Given the description of an element on the screen output the (x, y) to click on. 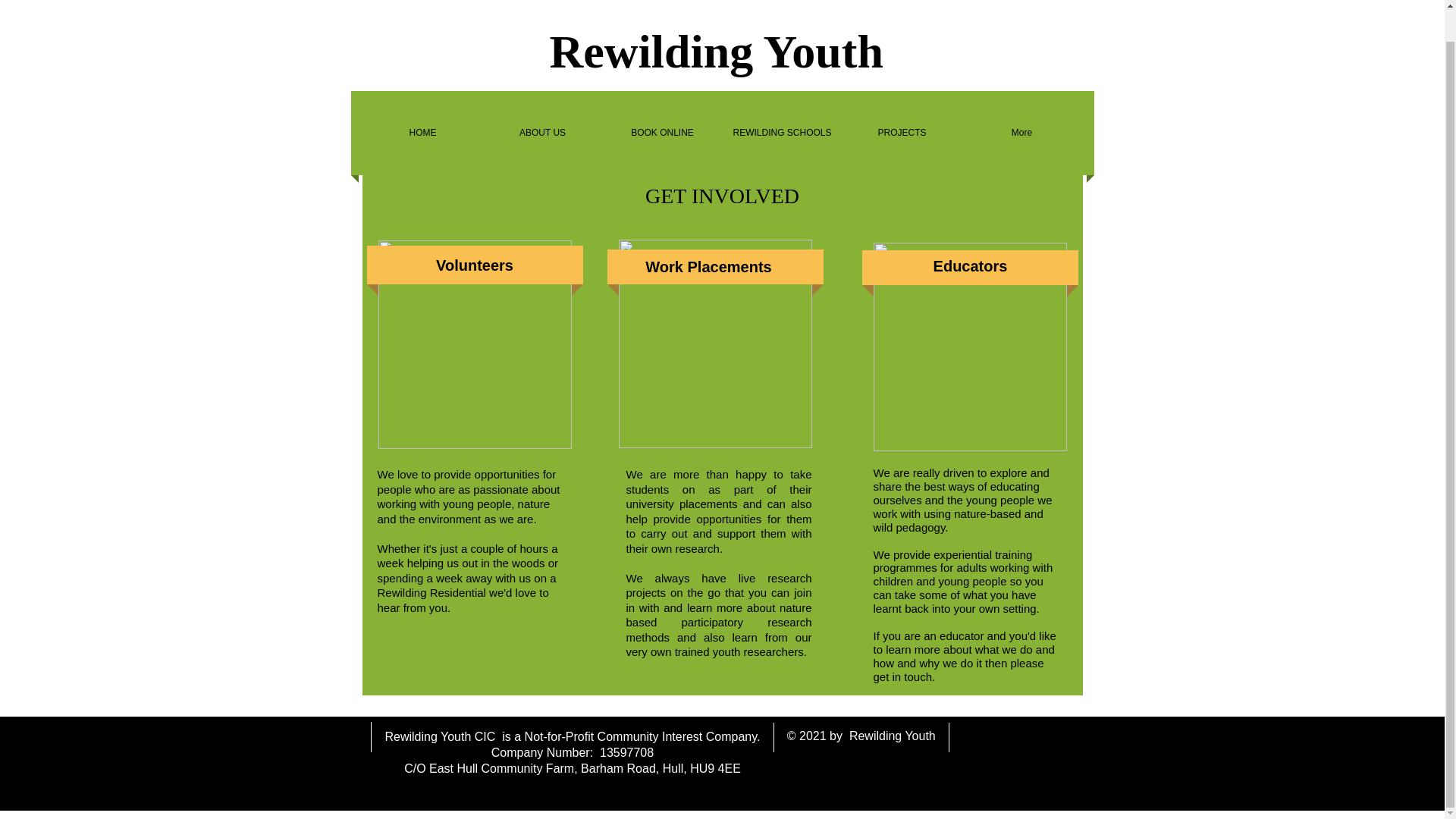
PROJECTS (900, 132)
ABOUT US (541, 132)
HOME (421, 132)
BOOK ONLINE (662, 132)
REWILDING SCHOOLS (781, 132)
Rewilding Youth  (722, 50)
